Given the description of an element on the screen output the (x, y) to click on. 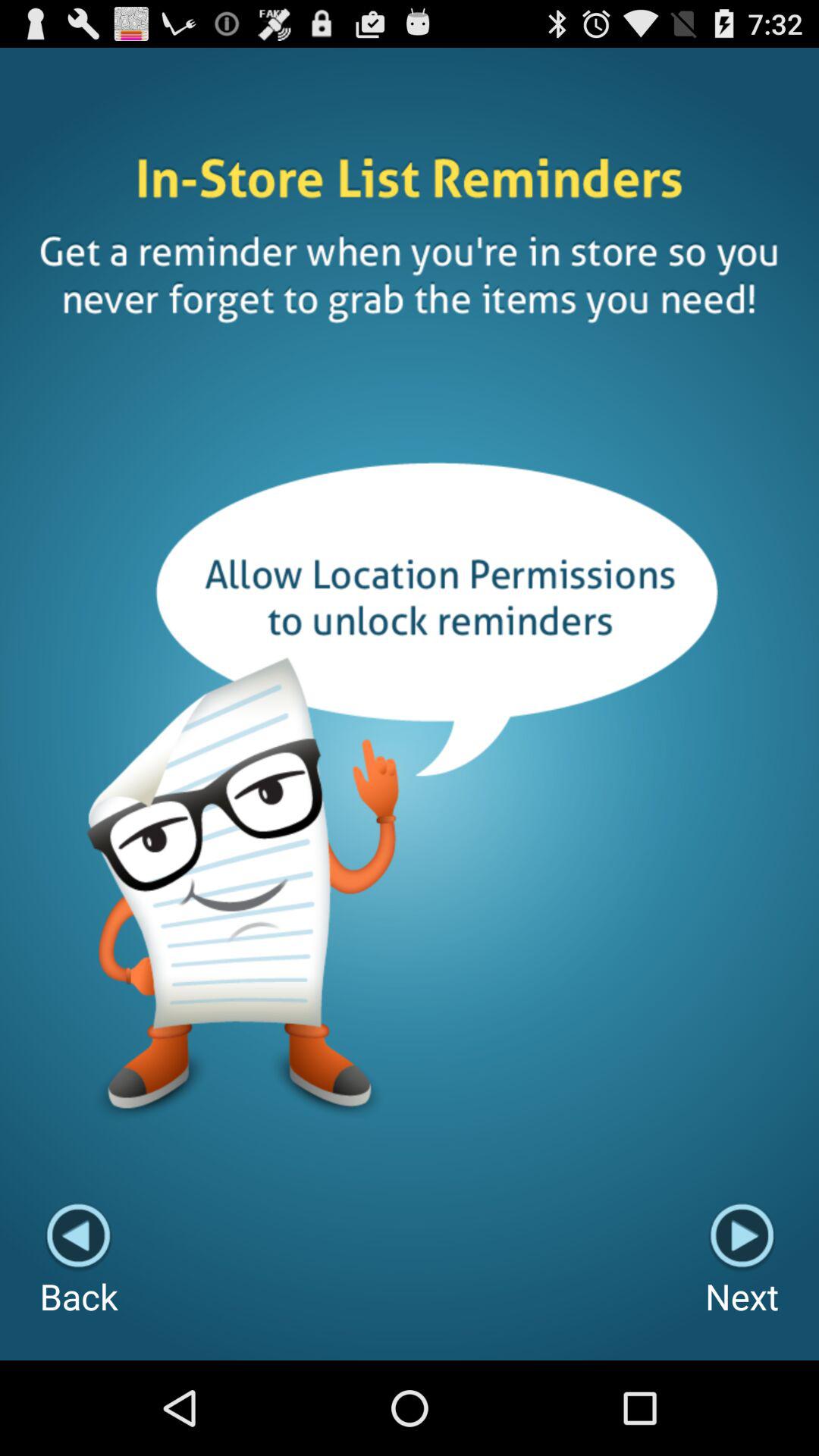
turn off the item to the right of the back button (742, 1260)
